Given the description of an element on the screen output the (x, y) to click on. 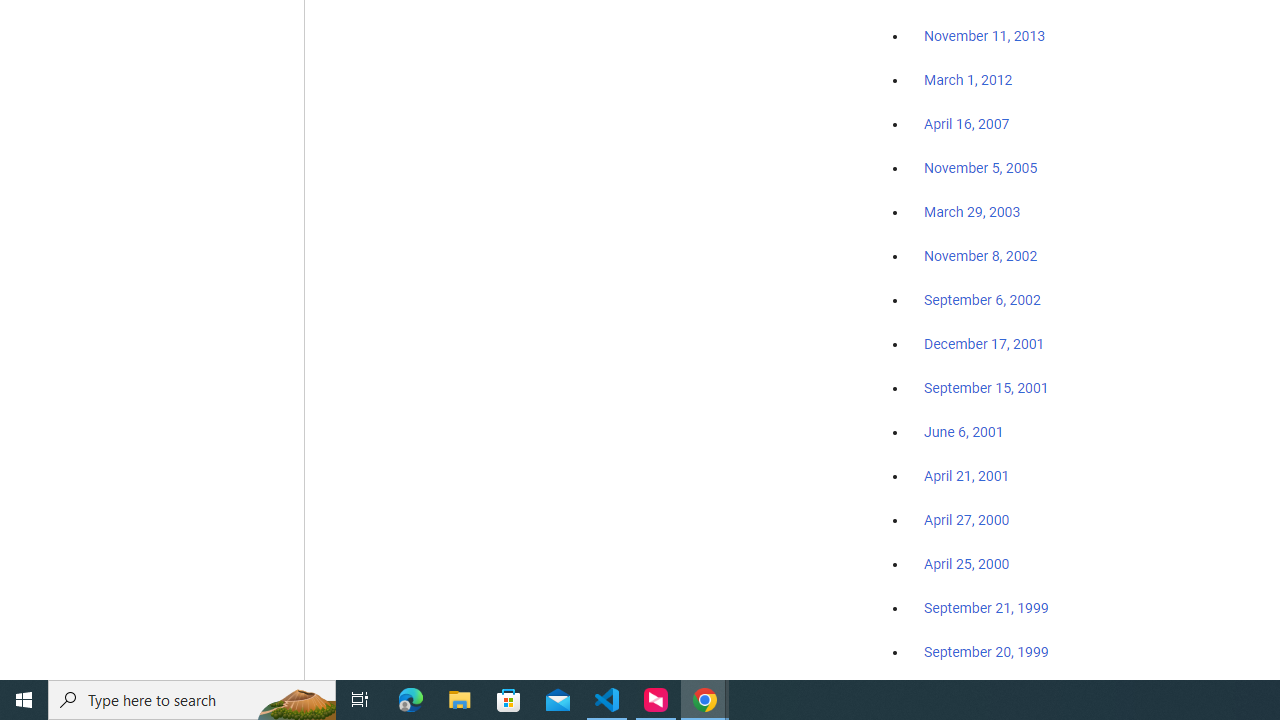
November 5, 2005 (981, 168)
September 21, 1999 (986, 608)
September 6, 2002 (982, 299)
September 20, 1999 (986, 651)
April 21, 2001 (966, 476)
April 16, 2007 (966, 124)
June 6, 2001 (963, 431)
April 27, 2000 (966, 520)
March 29, 2003 (972, 212)
November 11, 2013 (984, 37)
March 1, 2012 (968, 81)
December 17, 2001 (984, 343)
April 25, 2000 (966, 564)
November 8, 2002 (981, 255)
September 15, 2001 (986, 387)
